Given the description of an element on the screen output the (x, y) to click on. 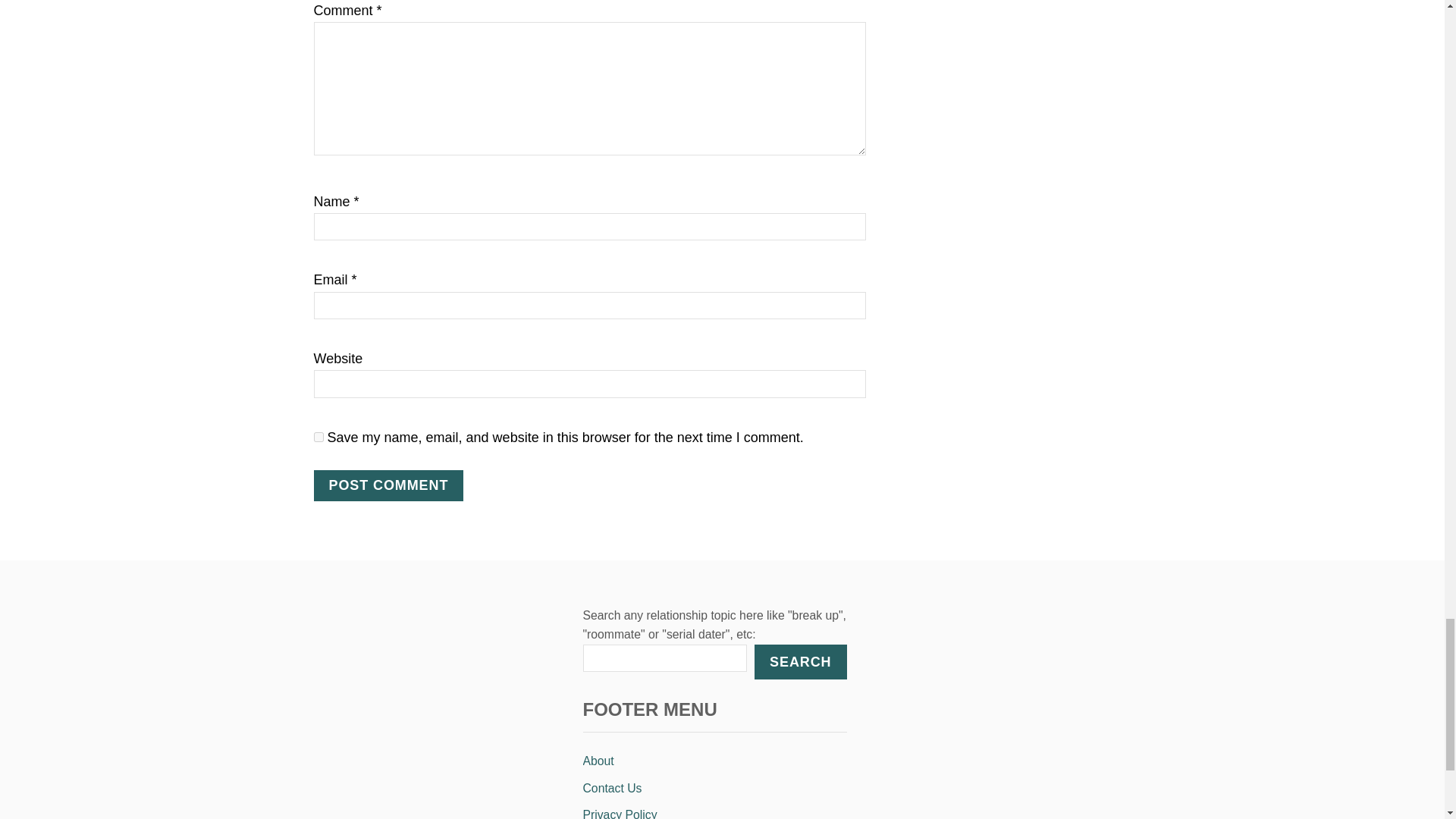
Post Comment (389, 485)
SEARCH (799, 661)
Privacy Policy (713, 810)
yes (318, 437)
Contact Us (713, 788)
Post Comment (389, 485)
About (713, 760)
